Given the description of an element on the screen output the (x, y) to click on. 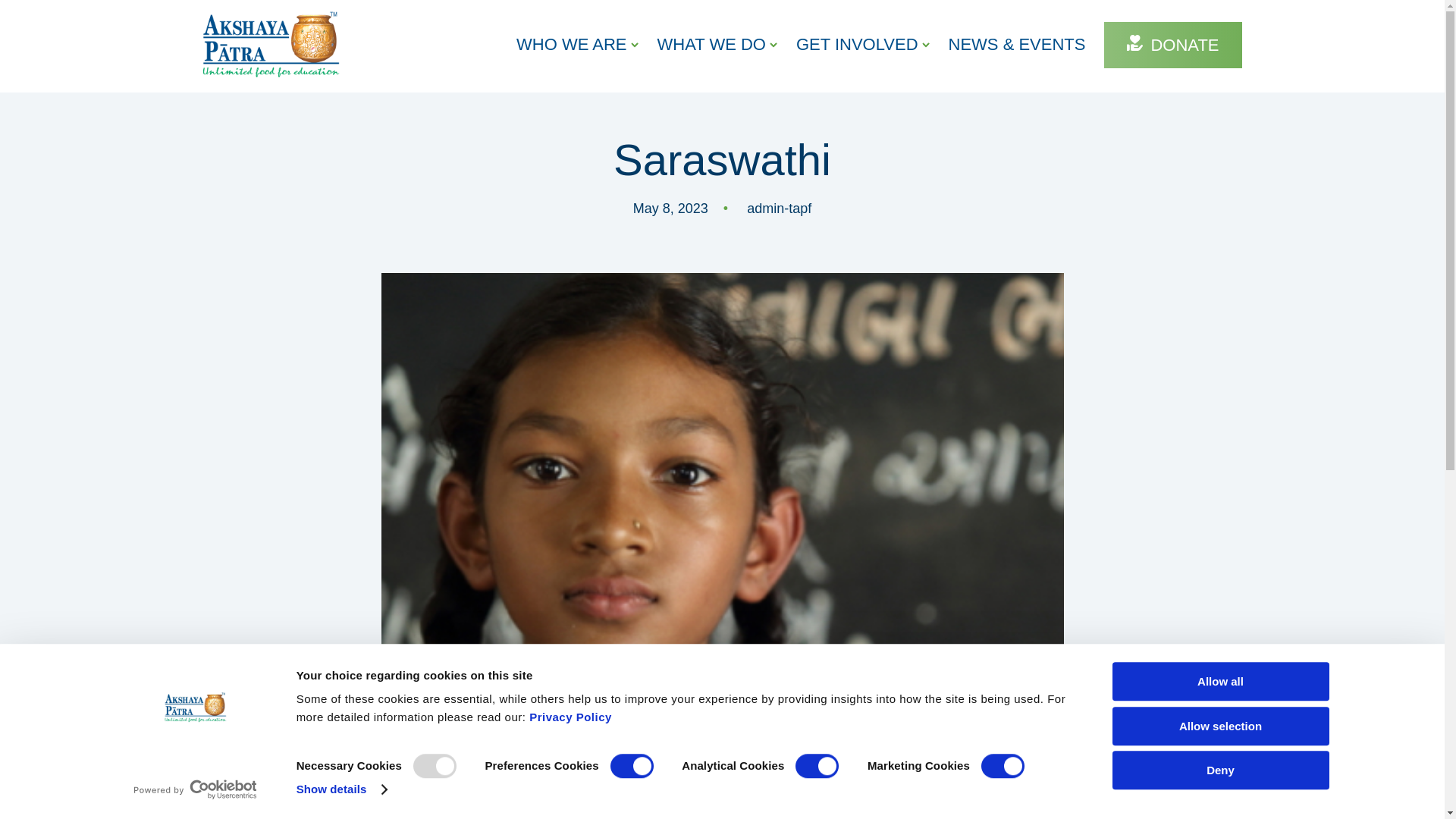
Show details (341, 789)
Privacy Policy (570, 716)
